Given the description of an element on the screen output the (x, y) to click on. 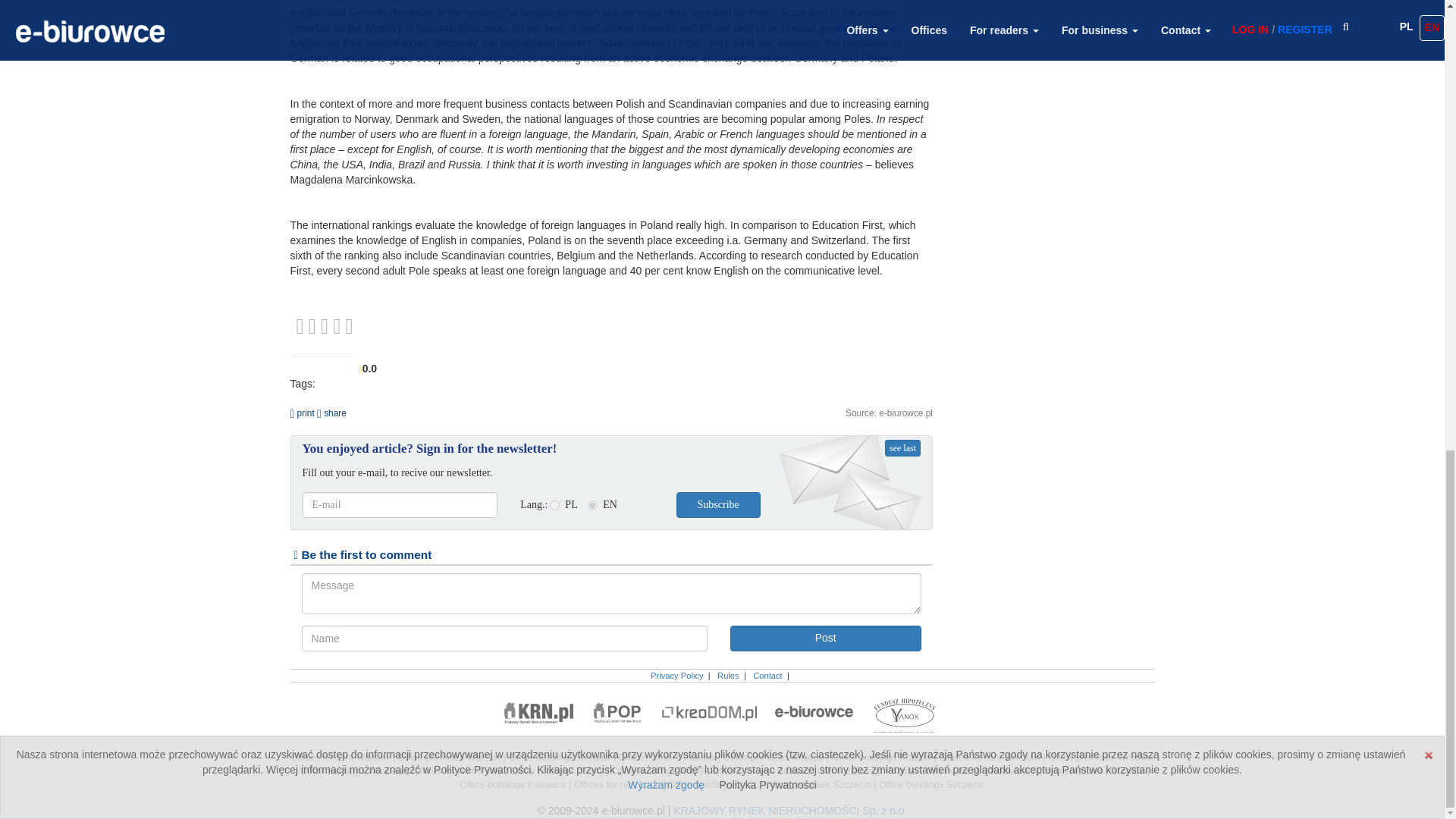
en (592, 505)
share (331, 412)
Last newsletter (902, 447)
0 (324, 326)
pl (554, 505)
print (301, 412)
Post (824, 638)
Subscribe (718, 504)
